Given the description of an element on the screen output the (x, y) to click on. 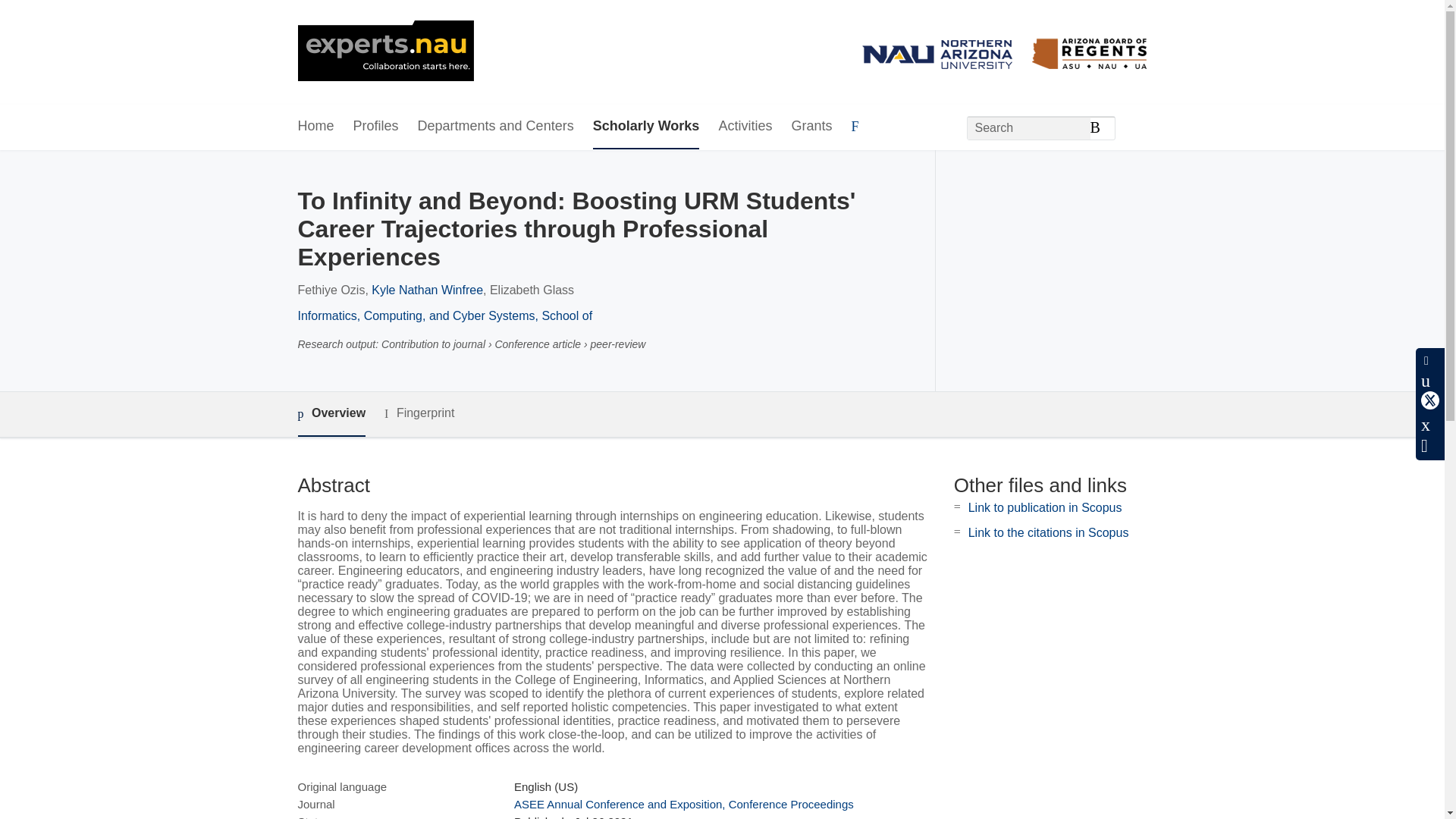
Profiles (375, 126)
Scholarly Works (646, 126)
Departments and Centers (495, 126)
Overview (331, 414)
Northern Arizona University Home (385, 52)
Activities (744, 126)
Kyle Nathan Winfree (427, 289)
Informatics, Computing, and Cyber Systems, School of (444, 315)
Fingerprint (419, 413)
Grants (810, 126)
Link to the citations in Scopus (1048, 532)
Link to publication in Scopus (1045, 507)
